Given the description of an element on the screen output the (x, y) to click on. 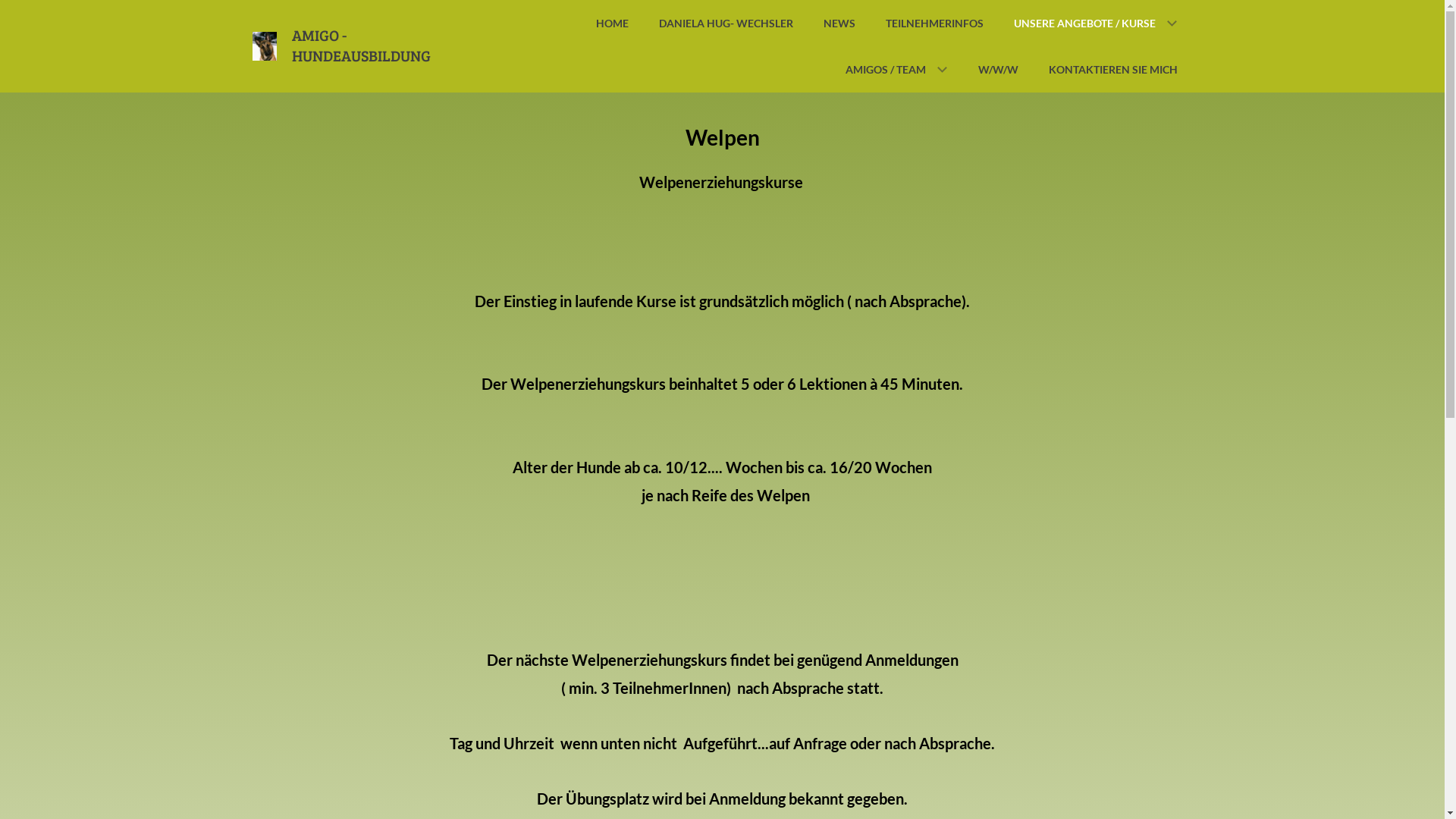
W/W/W Element type: text (998, 69)
KONTAKTIEREN SIE MICH Element type: text (1112, 69)
DANIELA HUG- WECHSLER Element type: text (725, 23)
HOME Element type: text (611, 23)
AMIGO - HUNDEAUSBILDUNG Element type: text (360, 44)
TEILNEHMERINFOS Element type: text (934, 23)
NEWS Element type: text (839, 23)
